Given the description of an element on the screen output the (x, y) to click on. 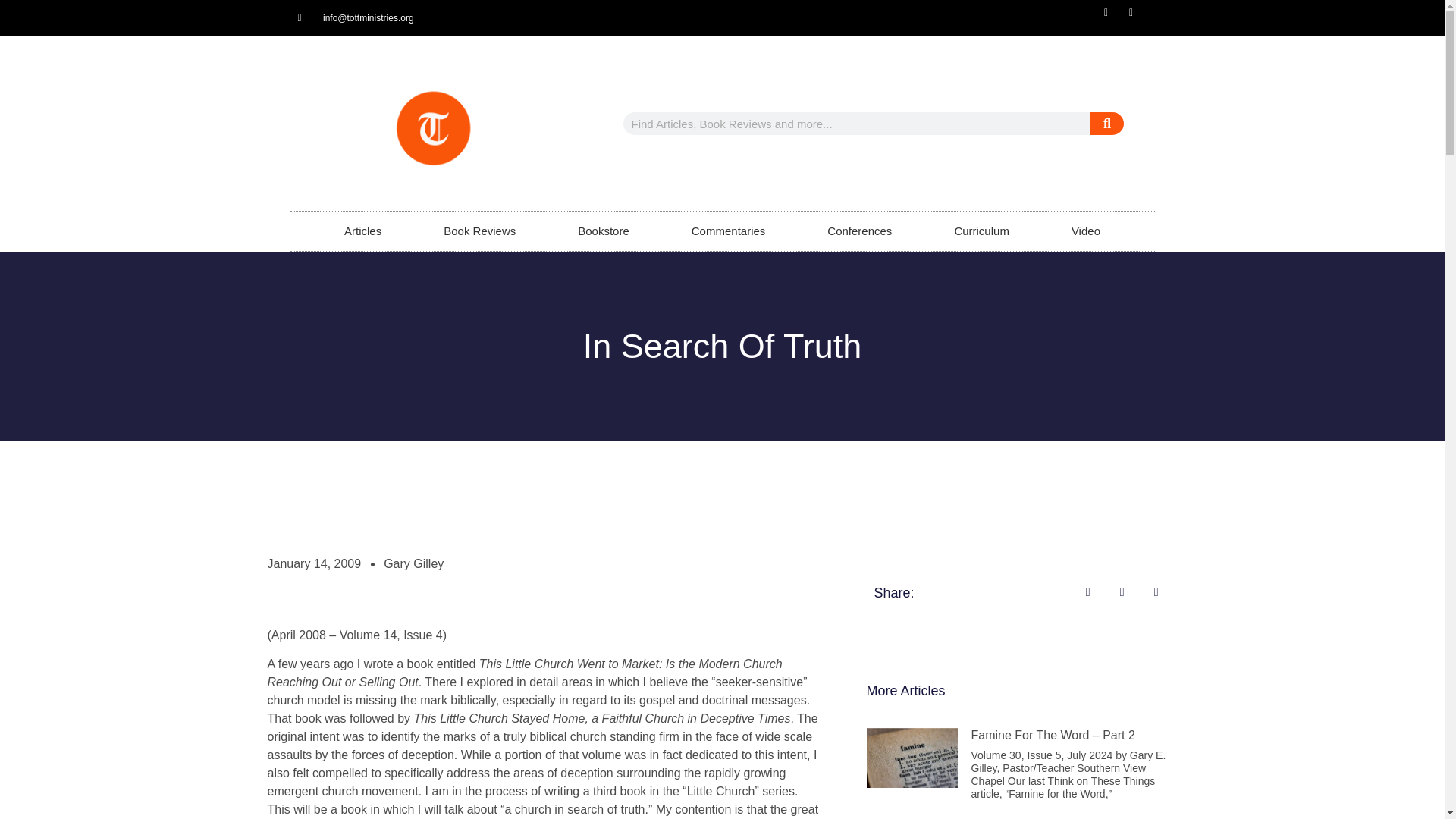
Articles (362, 230)
Curriculum (982, 230)
Conferences (859, 230)
Bookstore (604, 230)
January 14, 2009 (313, 564)
Gary Gilley (414, 564)
Video (1086, 230)
Book Reviews (479, 230)
Commentaries (728, 230)
